Given the description of an element on the screen output the (x, y) to click on. 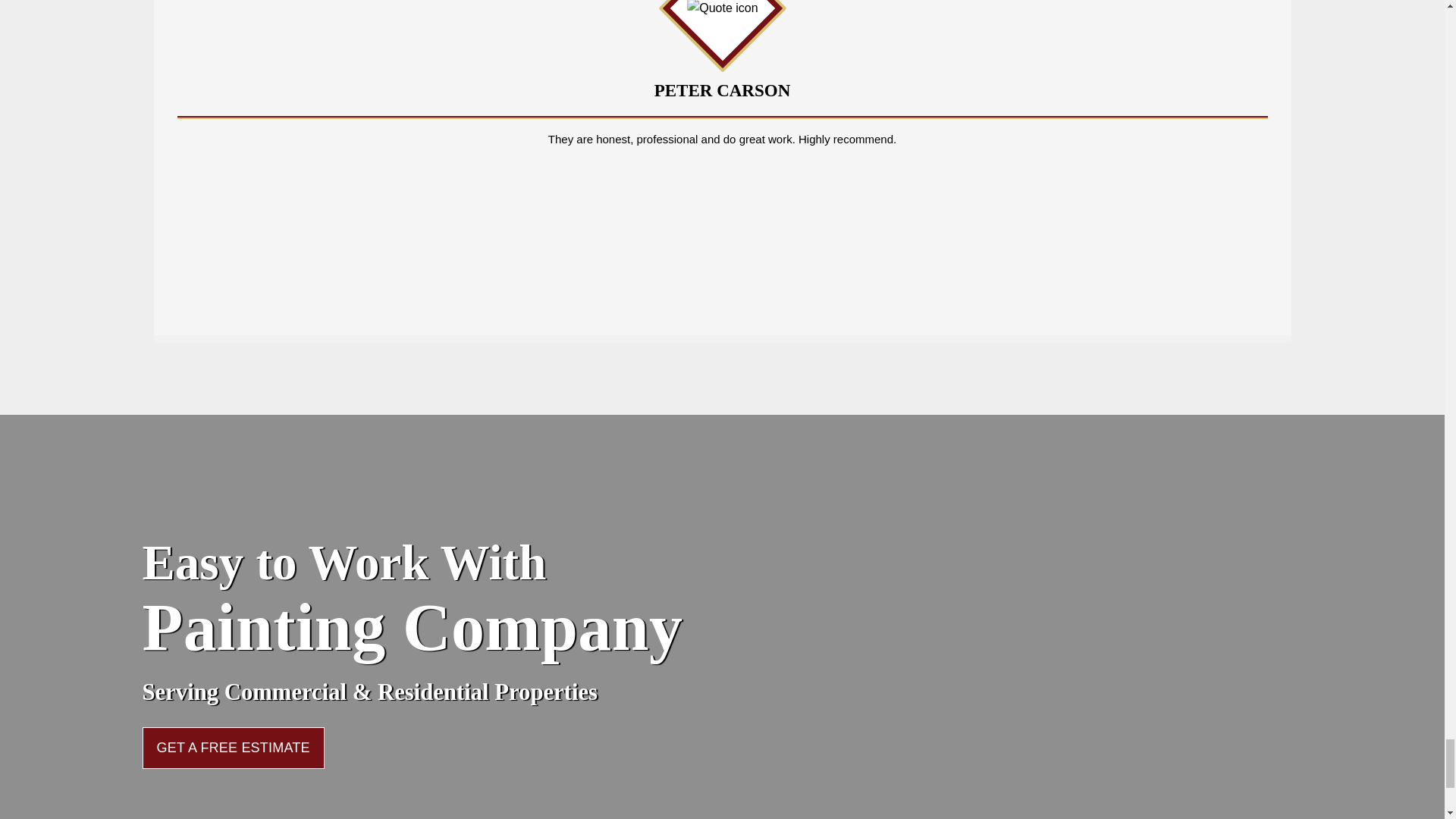
GET A FREE ESTIMATE (233, 748)
